Given the description of an element on the screen output the (x, y) to click on. 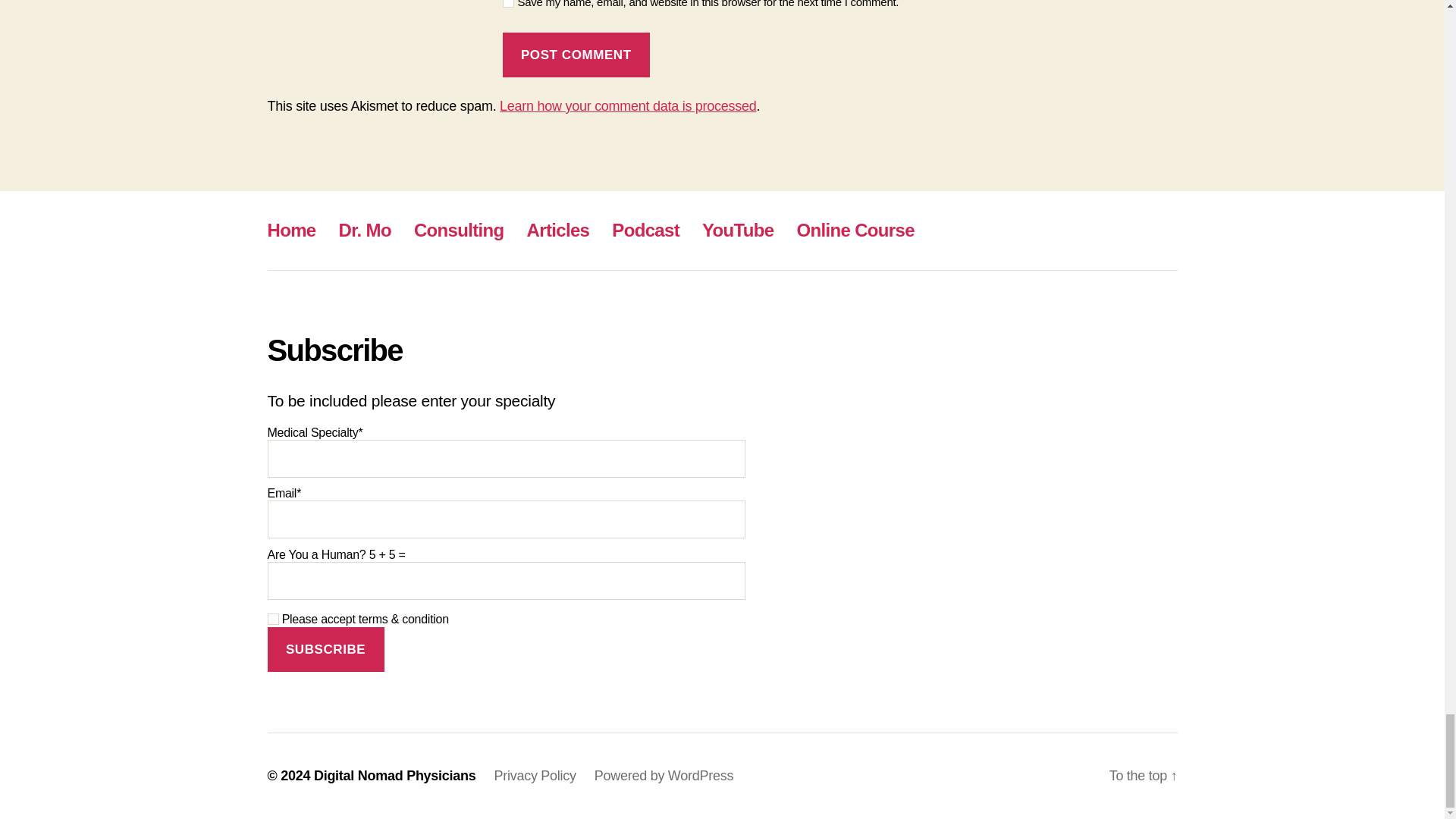
Subscribe (325, 649)
A little about me and my timeline. (365, 230)
Post Comment (575, 54)
yes (507, 3)
true (272, 618)
